Given the description of an element on the screen output the (x, y) to click on. 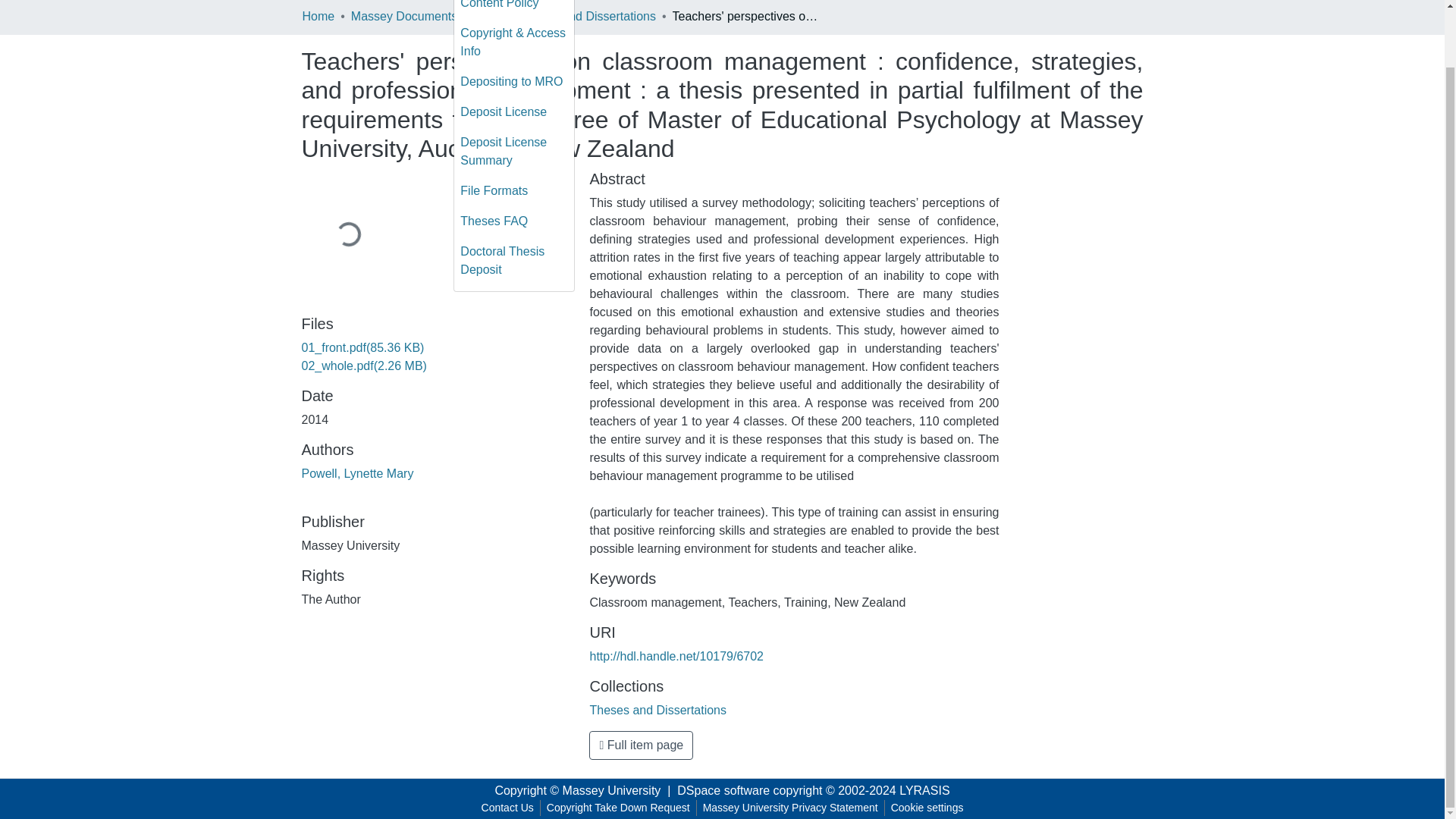
Theses and Dissertations (587, 16)
LYRASIS (924, 789)
Depositing to MRO (513, 81)
Deposit License (513, 112)
Full item page (641, 745)
Doctoral Thesis Deposit (513, 260)
DSpace software (723, 789)
Contact Us (508, 807)
Powell, Lynette Mary (357, 472)
File Formats (513, 191)
Content Policy (513, 9)
Massey Documents by Type (426, 16)
Theses FAQ (513, 221)
Deposit License Summary (513, 151)
Theses and Dissertations (657, 709)
